Given the description of an element on the screen output the (x, y) to click on. 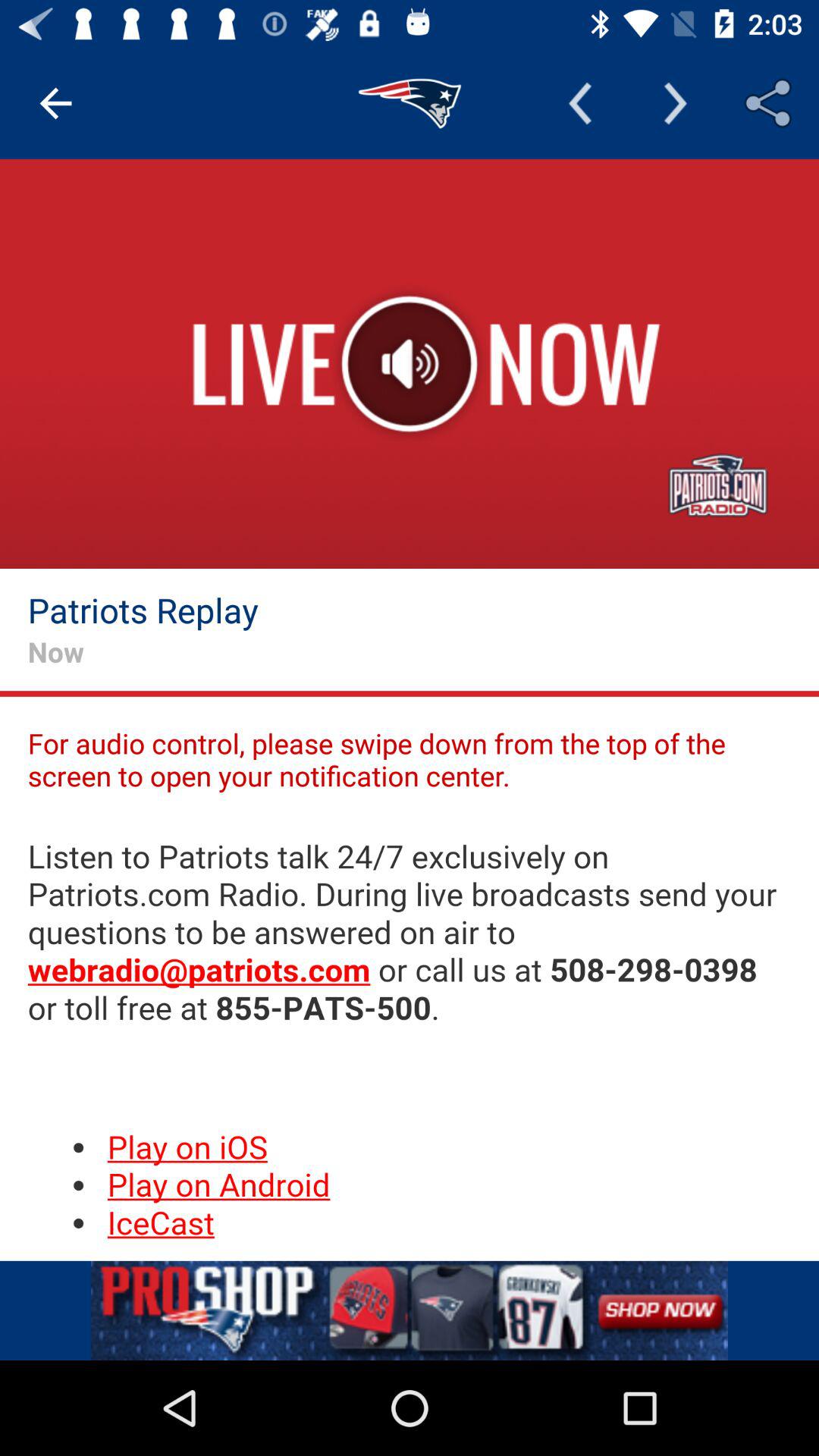
live sound on (409, 363)
